Given the description of an element on the screen output the (x, y) to click on. 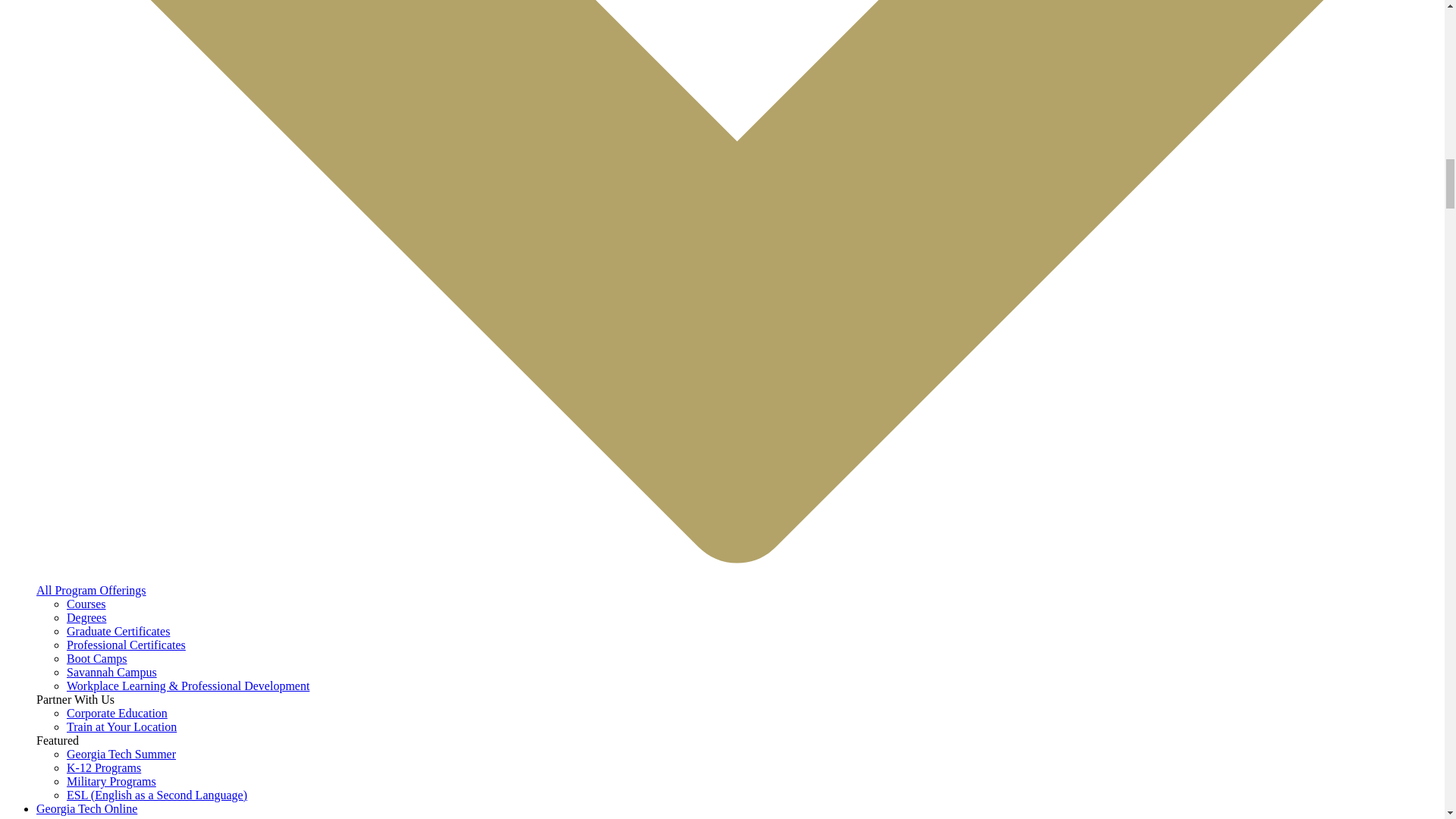
Corporate Education (116, 712)
Savannah Campus (111, 671)
Boot Camps (97, 658)
Military Programs (110, 780)
Professional Certificates (126, 644)
K-12 Programs (103, 767)
Degrees (86, 617)
Graduate Certificates (118, 631)
All Program Offerings (91, 590)
Courses (86, 603)
